Given the description of an element on the screen output the (x, y) to click on. 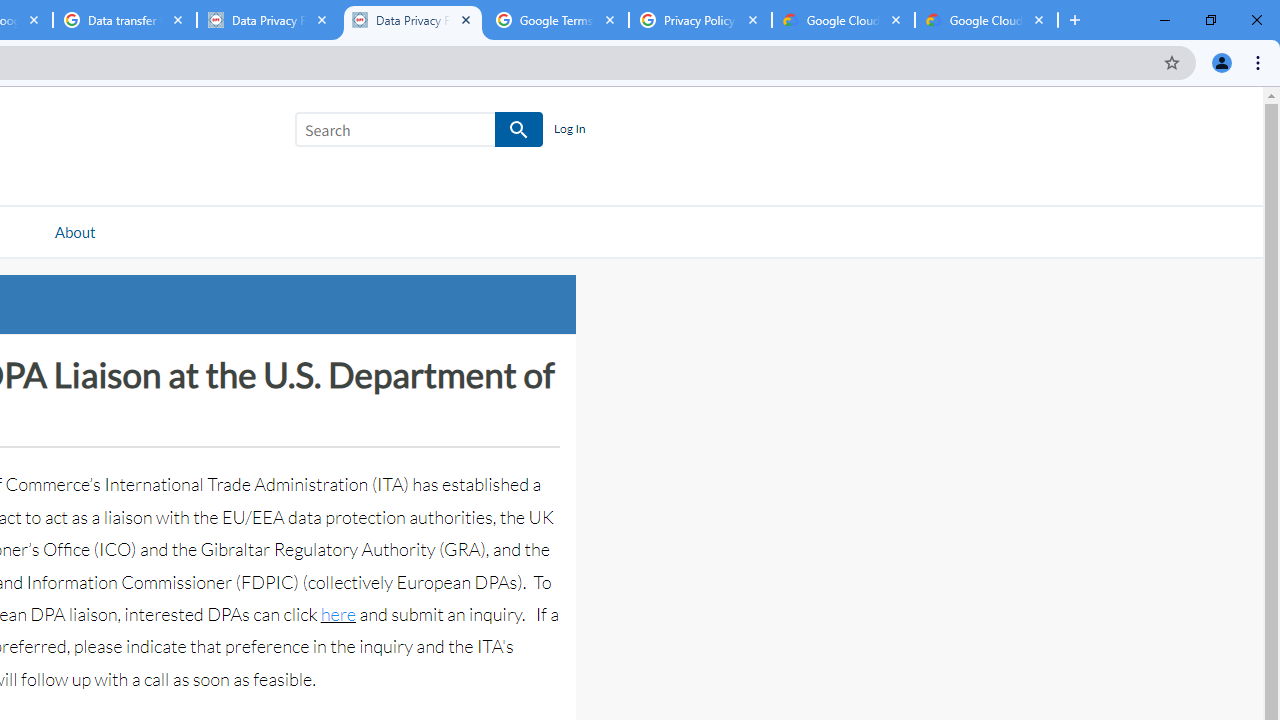
AutomationID: navitem2 (74, 231)
here (337, 614)
Search SEARCH (419, 133)
Log In (569, 129)
Data Privacy Framework (412, 20)
Google Cloud Privacy Notice (986, 20)
